Given the description of an element on the screen output the (x, y) to click on. 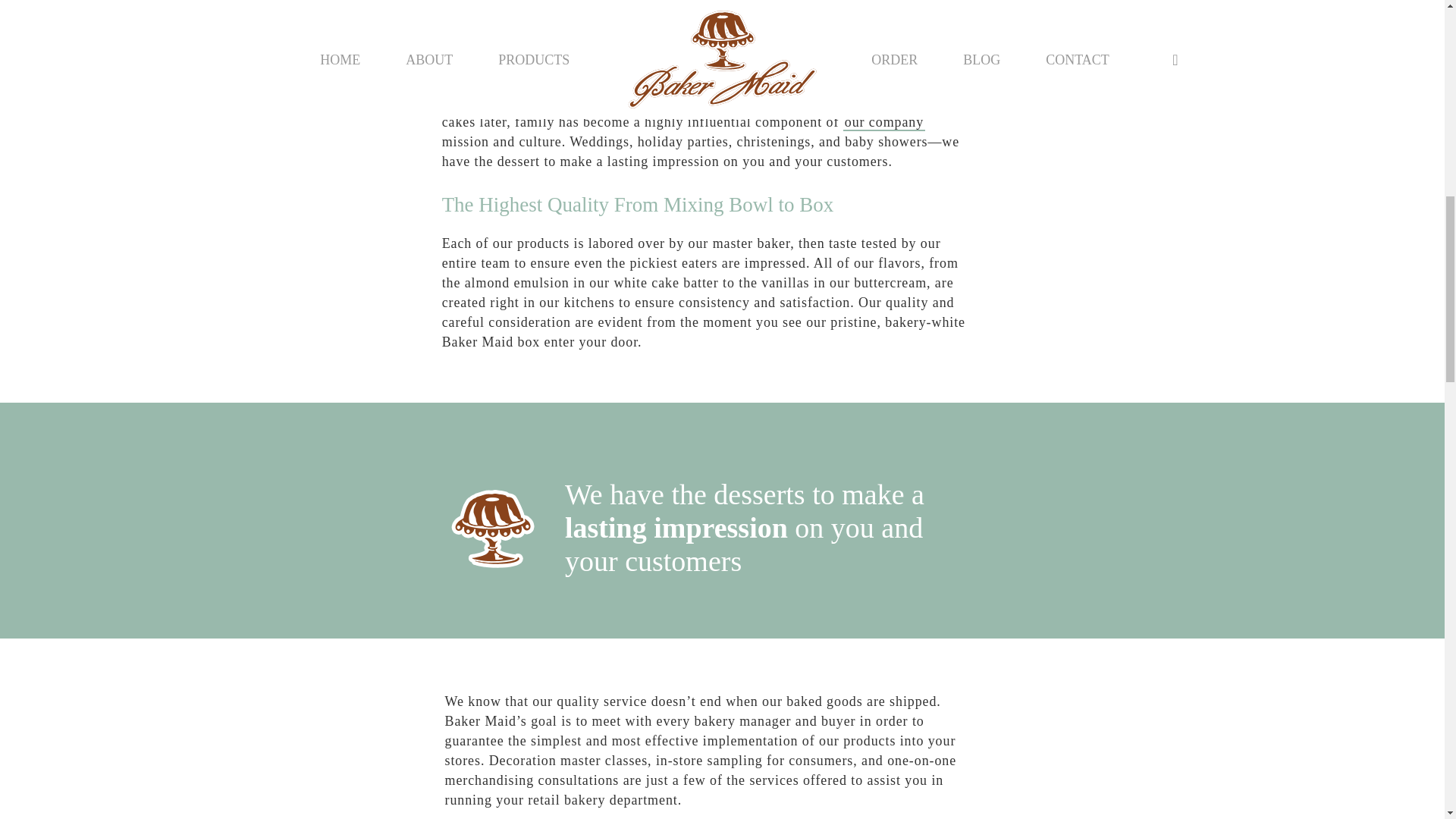
our company (883, 122)
